Given the description of an element on the screen output the (x, y) to click on. 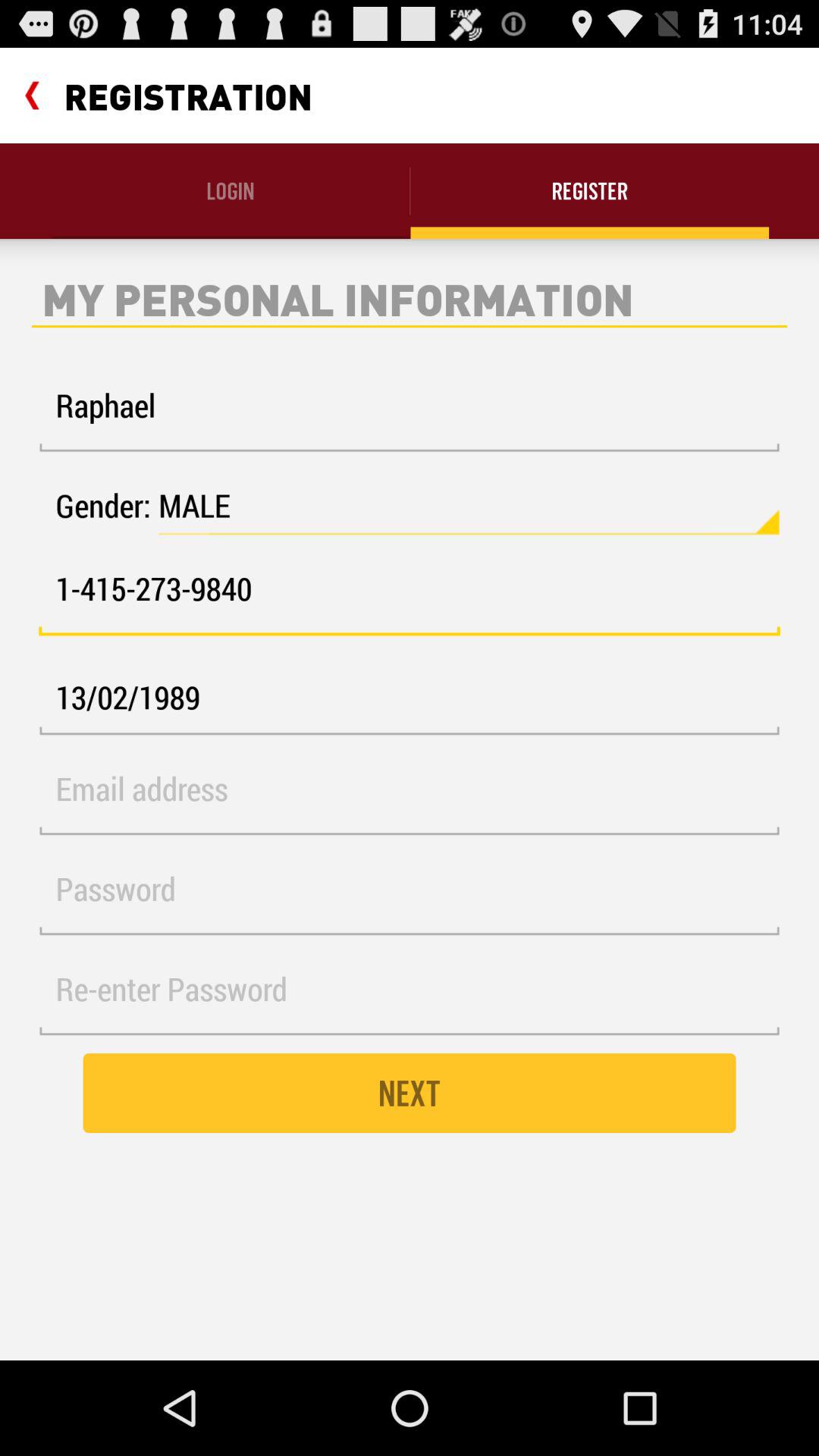
choose 1 415 273 (409, 597)
